Given the description of an element on the screen output the (x, y) to click on. 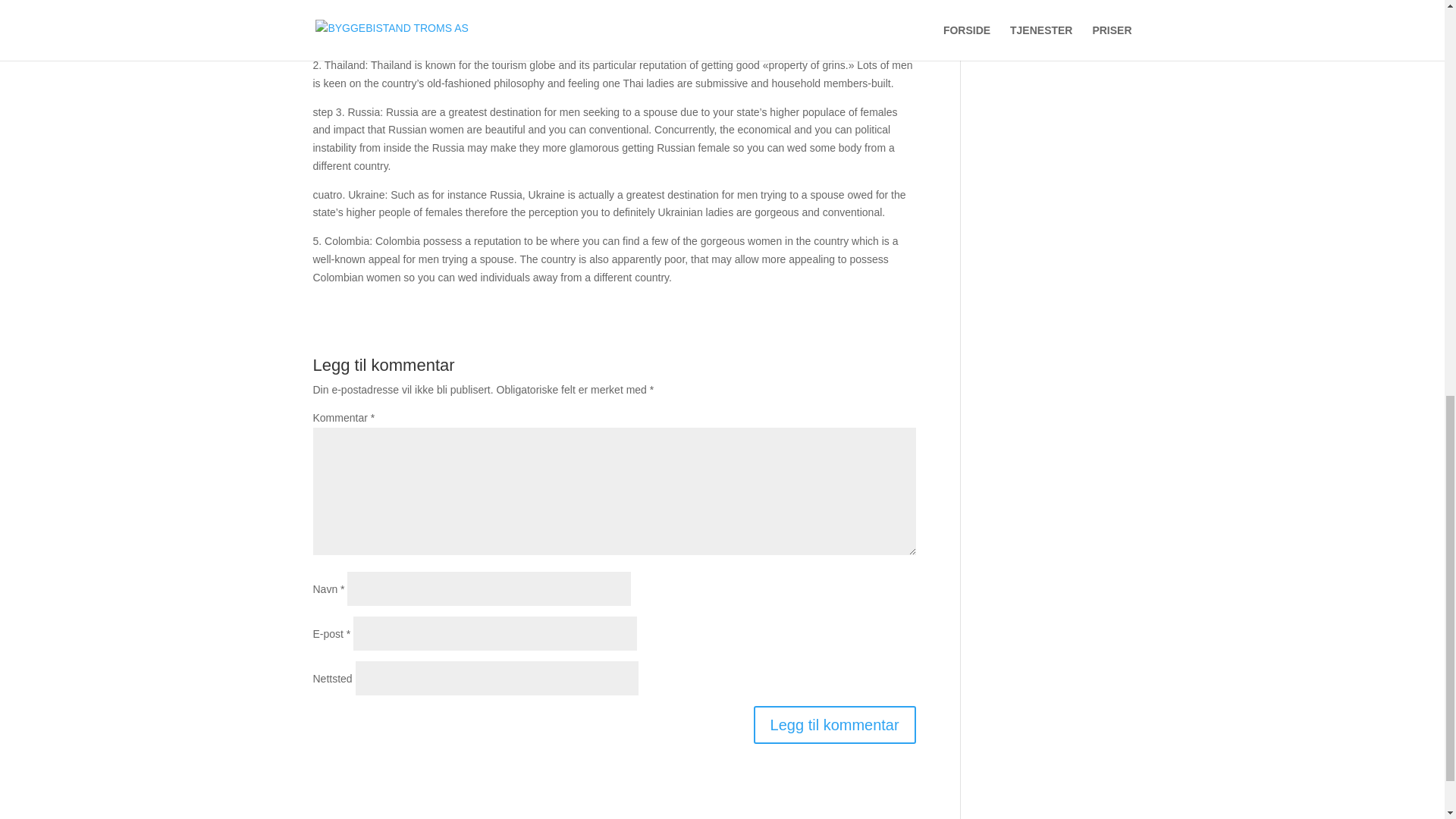
Legg til kommentar (834, 724)
Legg til kommentar (834, 724)
